Given the description of an element on the screen output the (x, y) to click on. 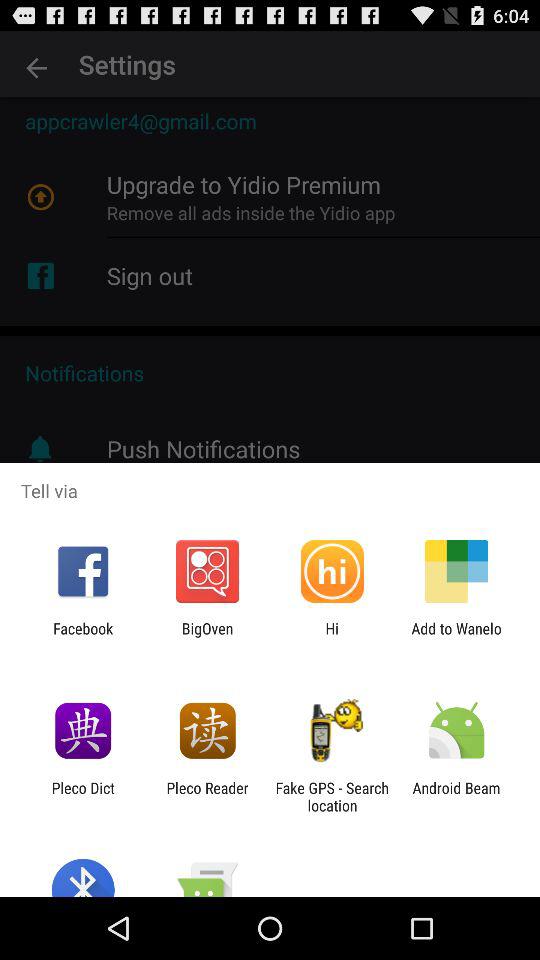
press bigoven icon (207, 637)
